Given the description of an element on the screen output the (x, y) to click on. 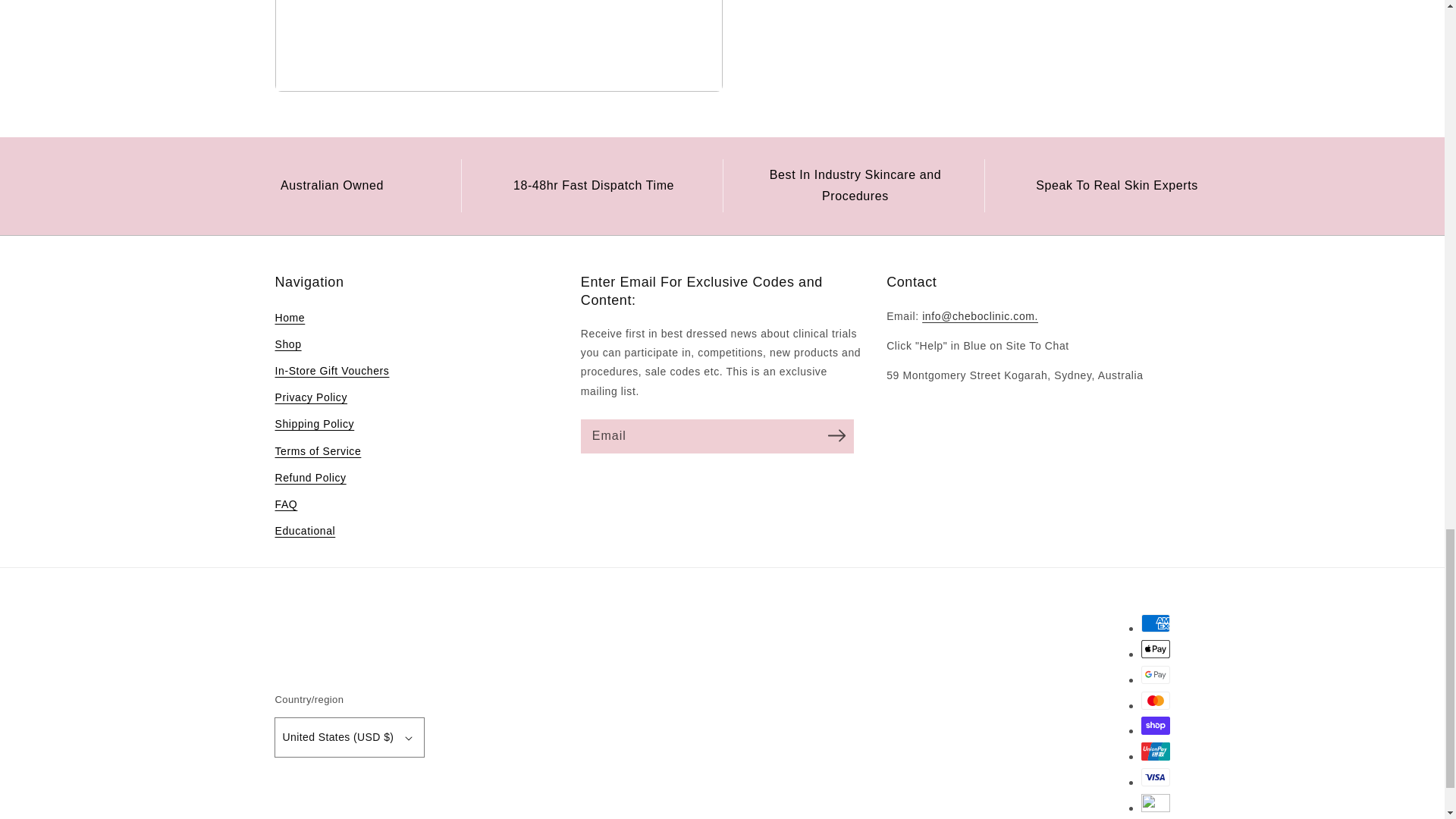
Union Pay (1154, 751)
Google Pay (1154, 674)
Visa (1154, 777)
Shop Pay (1154, 725)
American Express (1154, 623)
Mastercard (1154, 700)
Apple Pay (1154, 648)
